Given the description of an element on the screen output the (x, y) to click on. 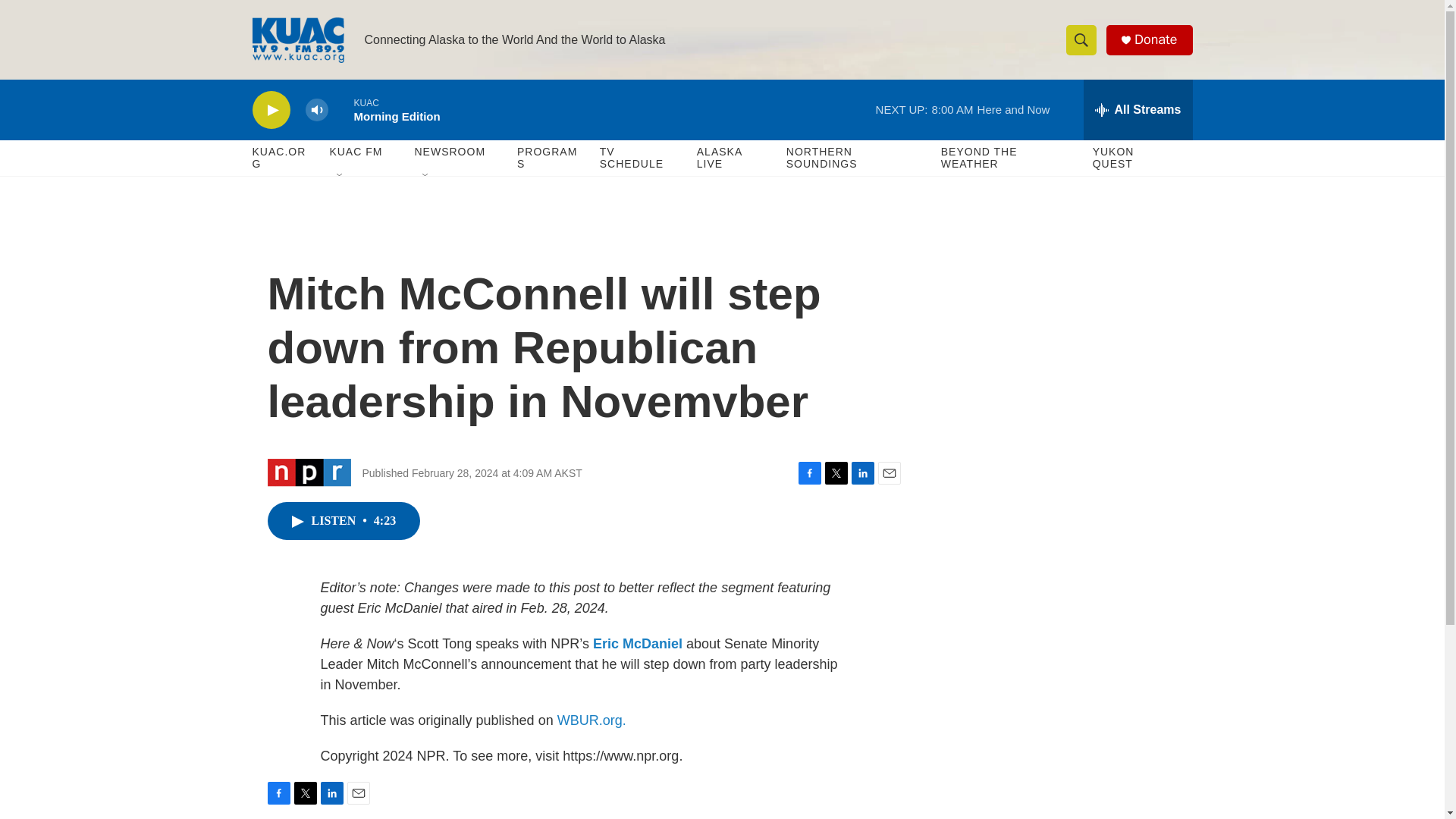
All Streams (1137, 109)
Show Search (1080, 39)
Donate (1155, 39)
KUAC.ORG (282, 157)
